Given the description of an element on the screen output the (x, y) to click on. 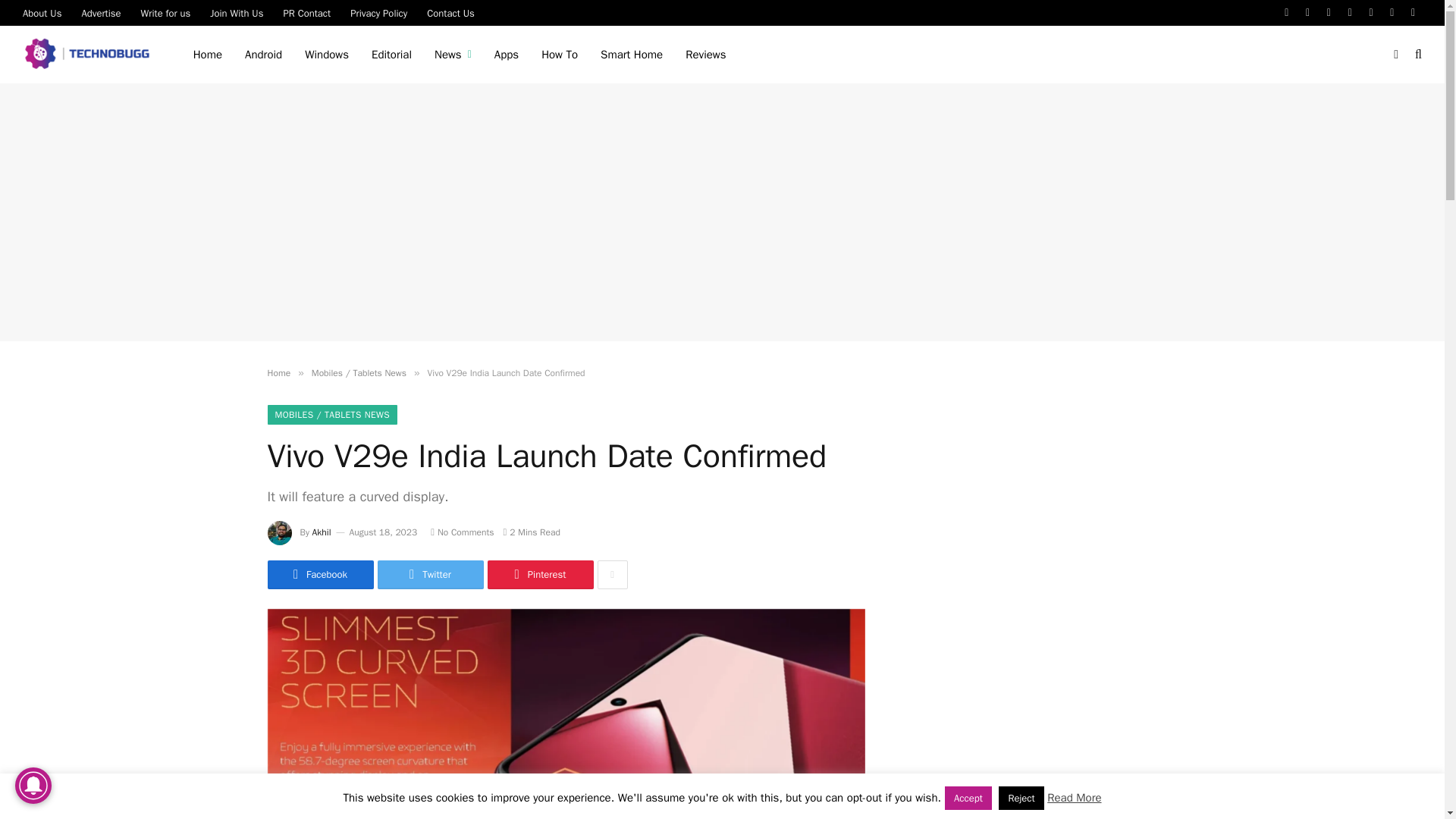
Share on Facebook (319, 574)
Editorial (391, 54)
Android (263, 54)
Smart Home (631, 54)
Write for us (165, 12)
PR Contact (306, 12)
Share on Pinterest (539, 574)
Switch to Dark Design - easier on eyes. (1396, 54)
Contact Us (450, 12)
Home (207, 54)
News (453, 54)
Posts by Akhil (322, 532)
Reviews (705, 54)
How To (559, 54)
Windows (326, 54)
